Given the description of an element on the screen output the (x, y) to click on. 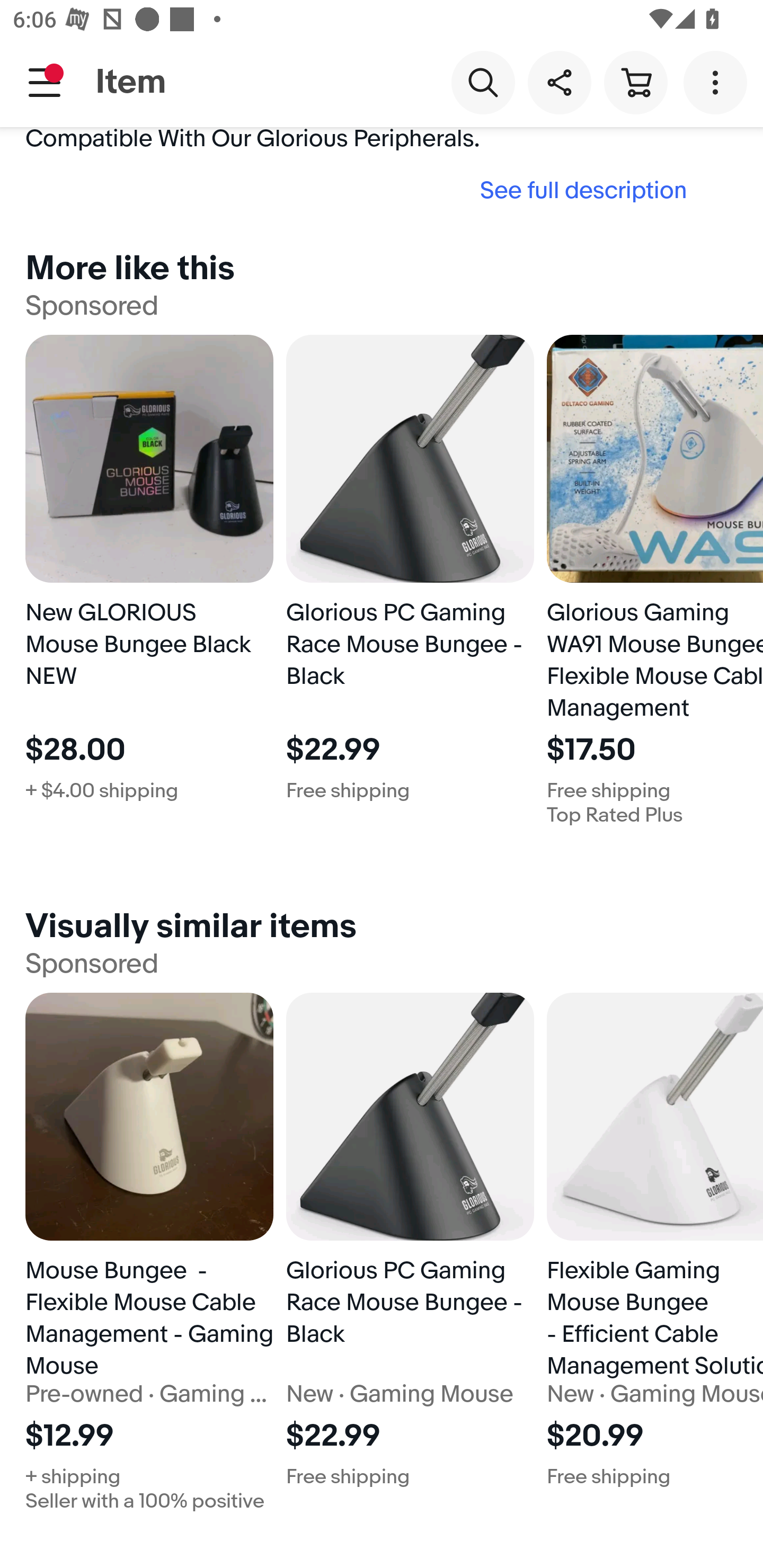
Main navigation, notification is pending, open (44, 82)
Search (482, 81)
Share this item (559, 81)
Cart button shopping cart (635, 81)
More options (718, 81)
See full description (362, 190)
